Given the description of an element on the screen output the (x, y) to click on. 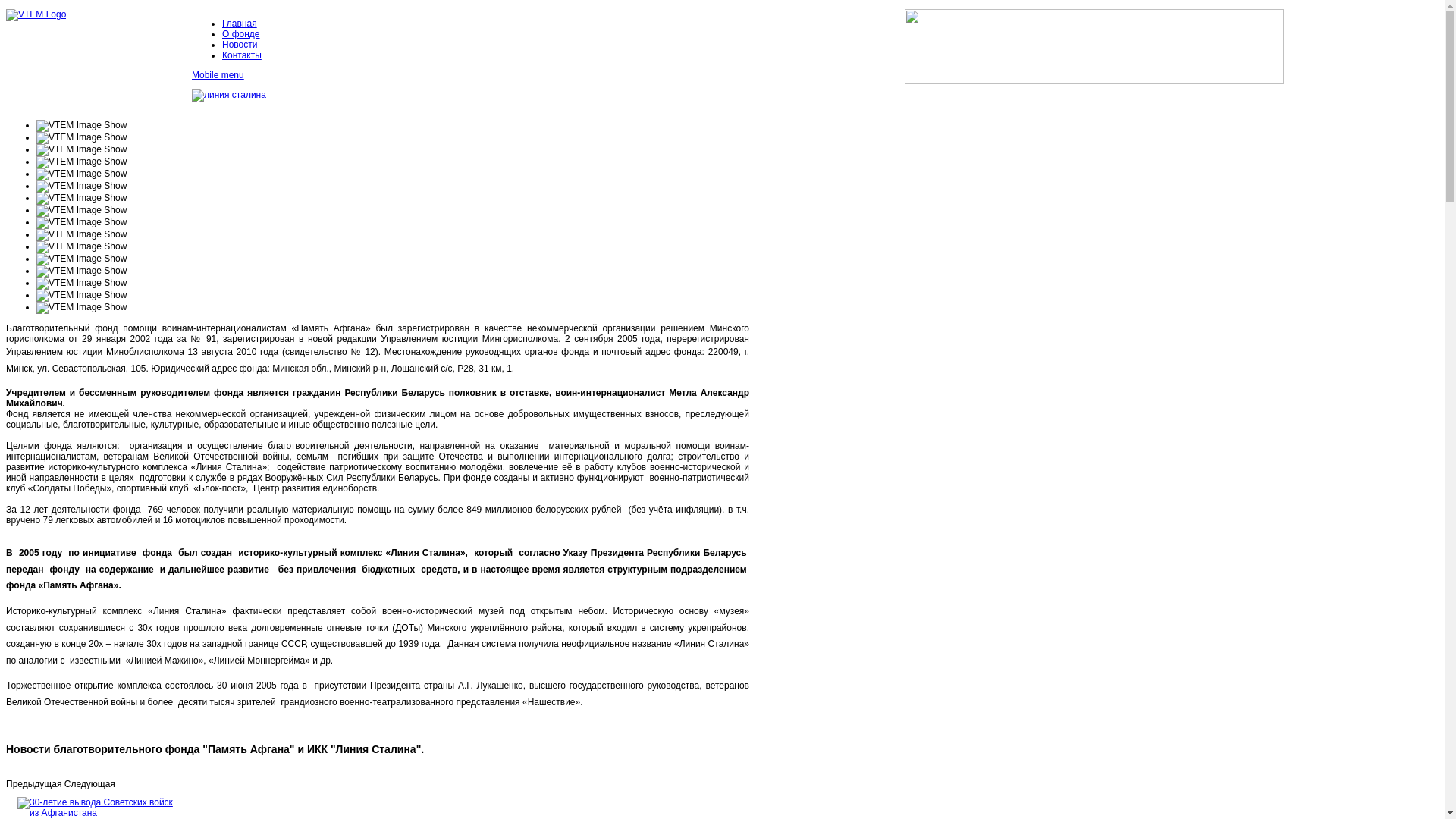
Mobile menu Element type: text (217, 74)
